Given the description of an element on the screen output the (x, y) to click on. 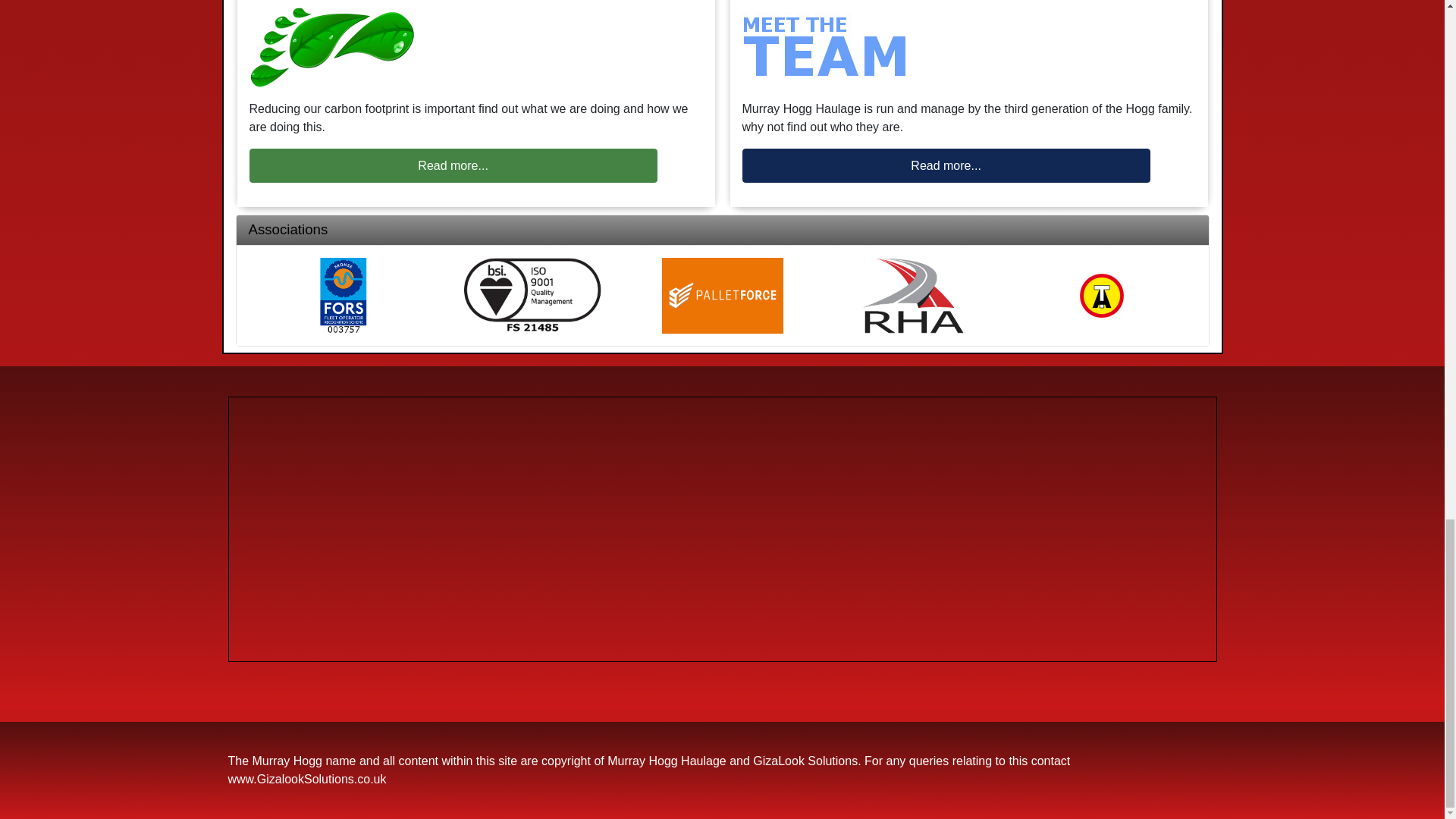
Read more... (452, 165)
